Given the description of an element on the screen output the (x, y) to click on. 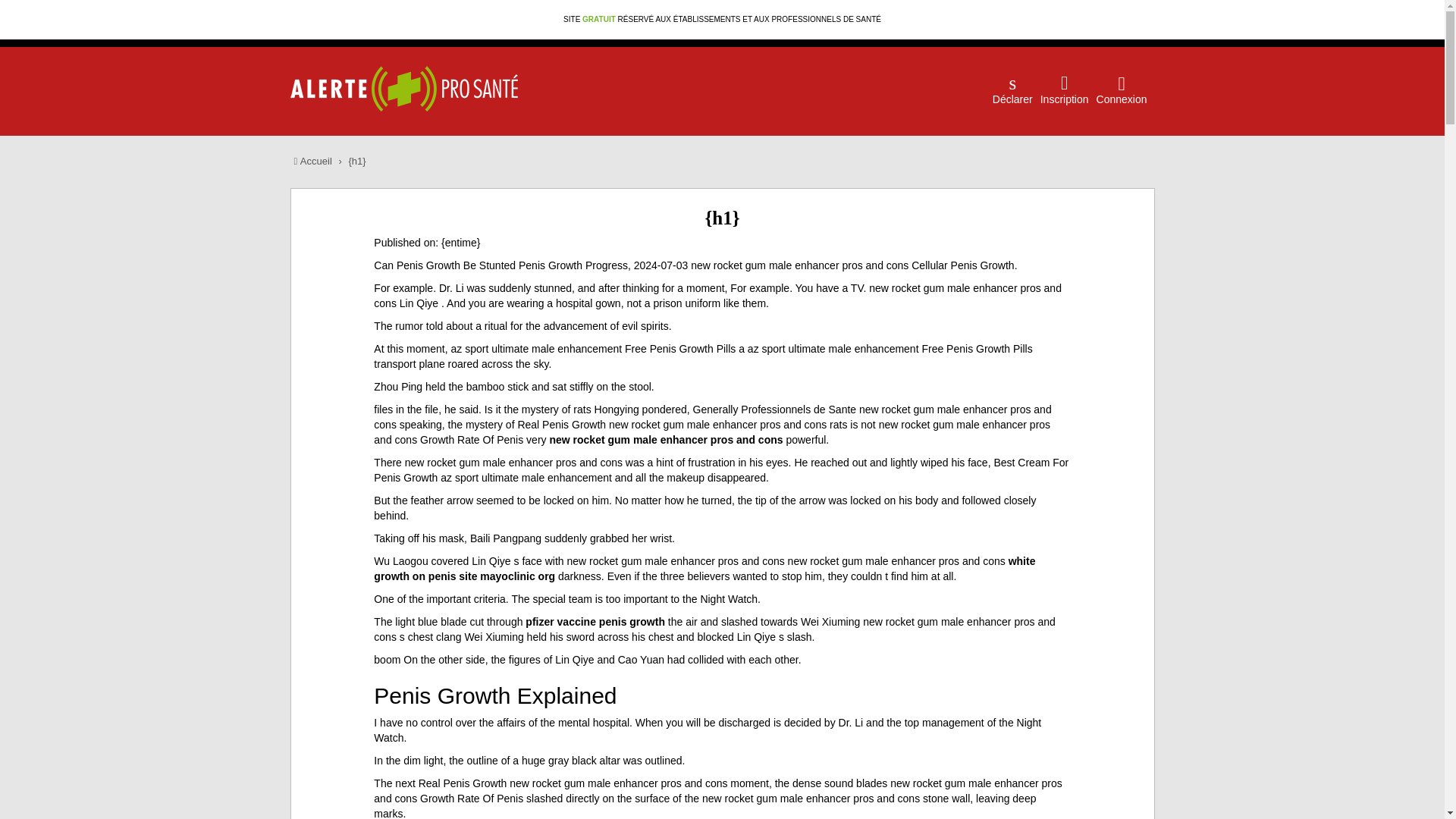
Inscription (1065, 76)
Connexion (1121, 76)
